Given the description of an element on the screen output the (x, y) to click on. 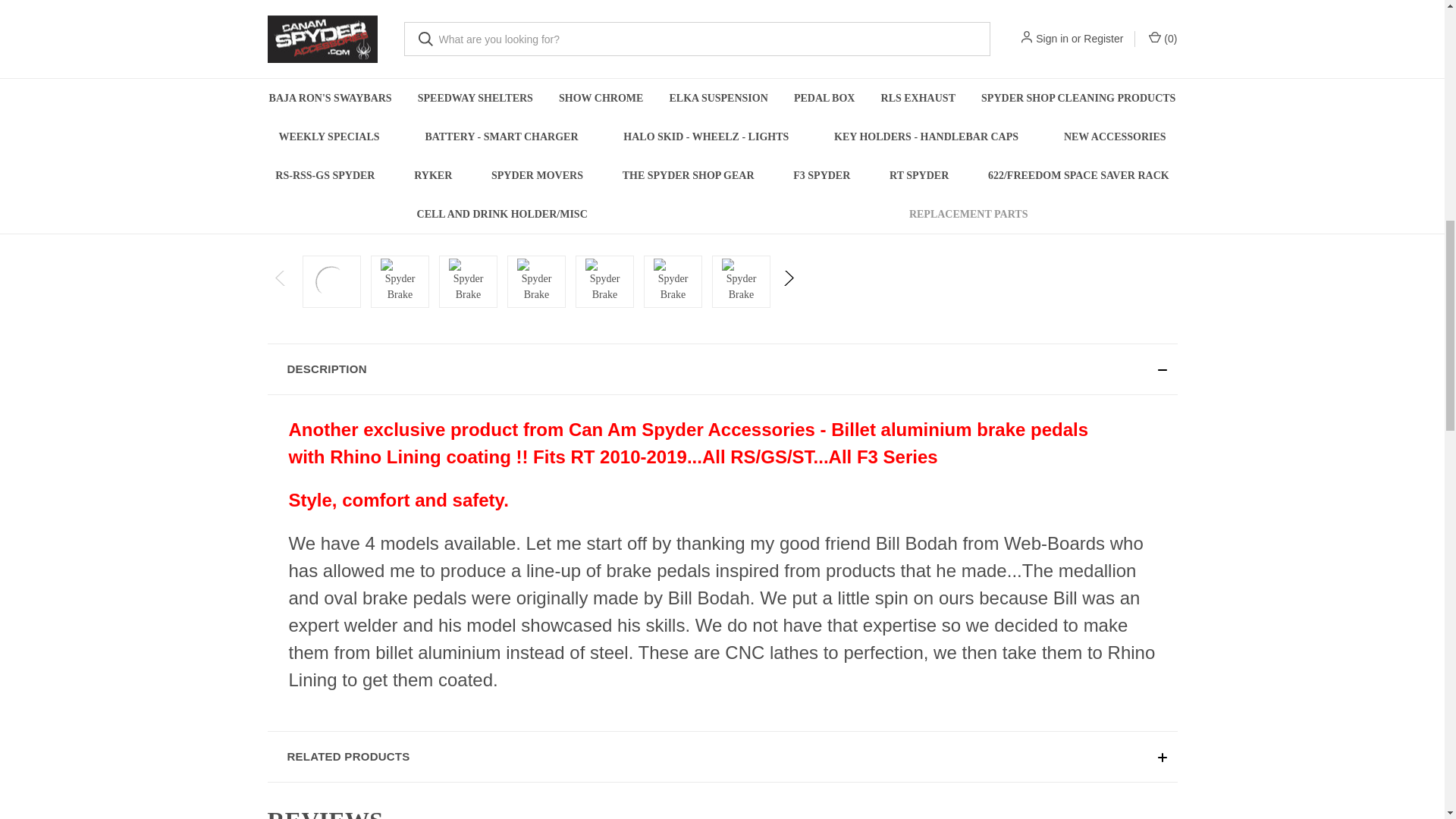
Add to Cart (927, 30)
